Given the description of an element on the screen output the (x, y) to click on. 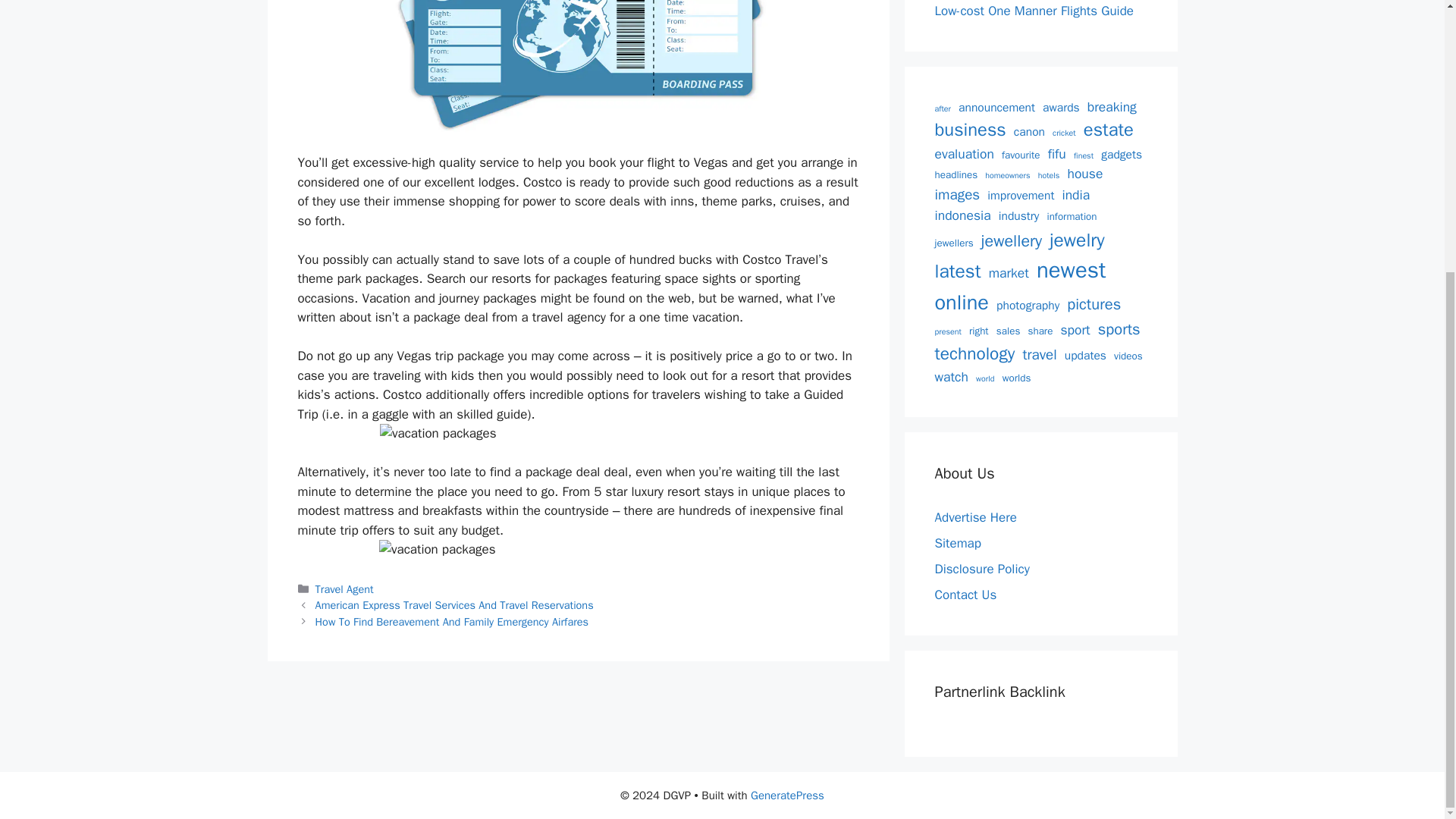
breaking (1112, 106)
canon (1029, 131)
cricket (1063, 133)
homeowners (1007, 175)
indonesia (962, 215)
india (1075, 194)
fifu (1056, 153)
gadgets (1120, 154)
announcement (996, 108)
headlines (955, 174)
